Given the description of an element on the screen output the (x, y) to click on. 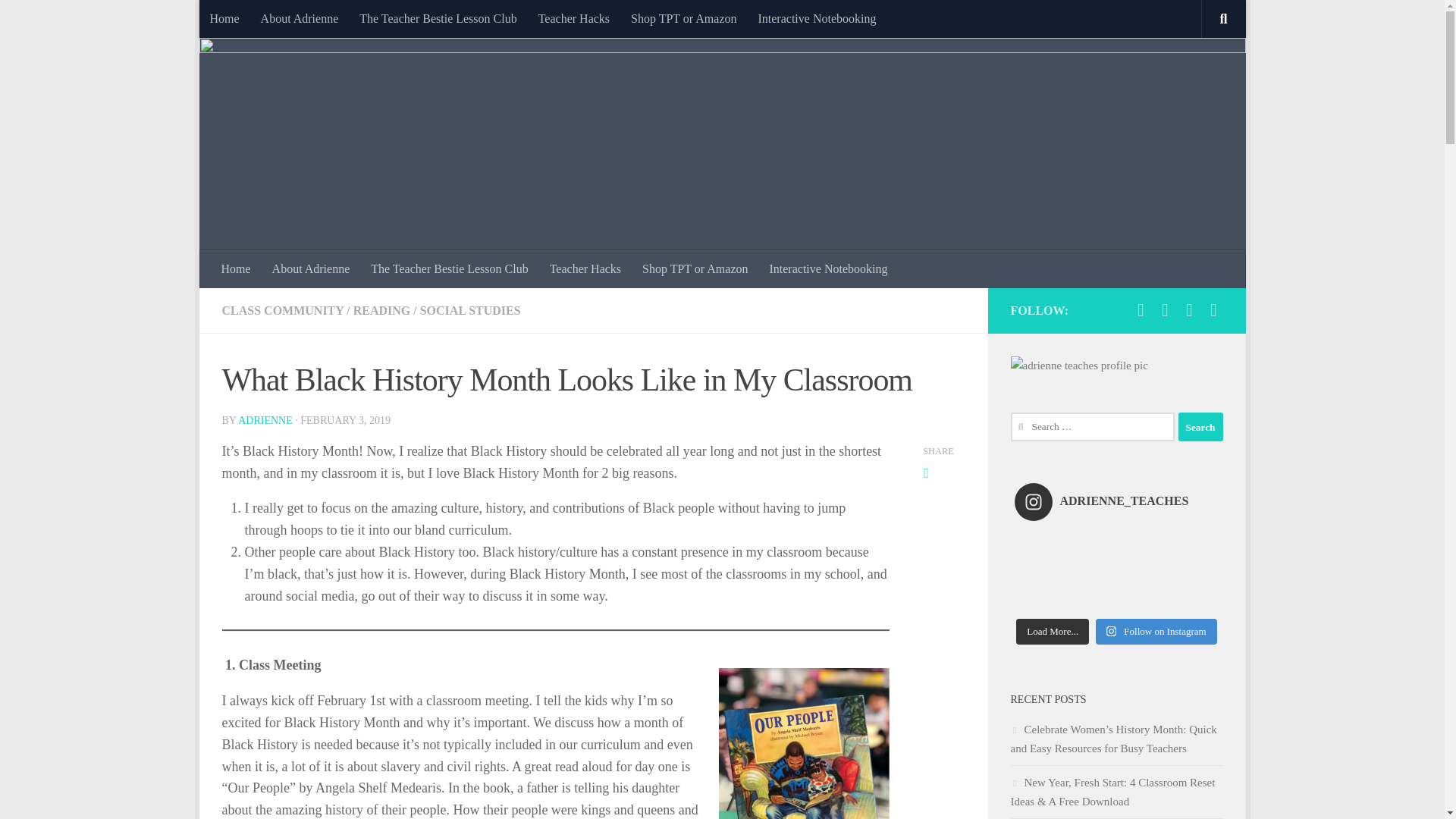
Follow us on Twitter (1140, 310)
Search (1200, 426)
READING (381, 309)
Teacher Hacks (573, 18)
Shop TPT or Amazon (683, 18)
Interactive Notebooking (828, 269)
Shop TPT or Amazon (694, 269)
CLASS COMMUNITY (282, 309)
The Teacher Bestie Lesson Club (448, 269)
Home (236, 269)
About Adrienne (311, 269)
Follow us on Instagram (1188, 310)
ADRIENNE (265, 419)
About Adrienne (299, 18)
The Teacher Bestie Lesson Club (438, 18)
